Given the description of an element on the screen output the (x, y) to click on. 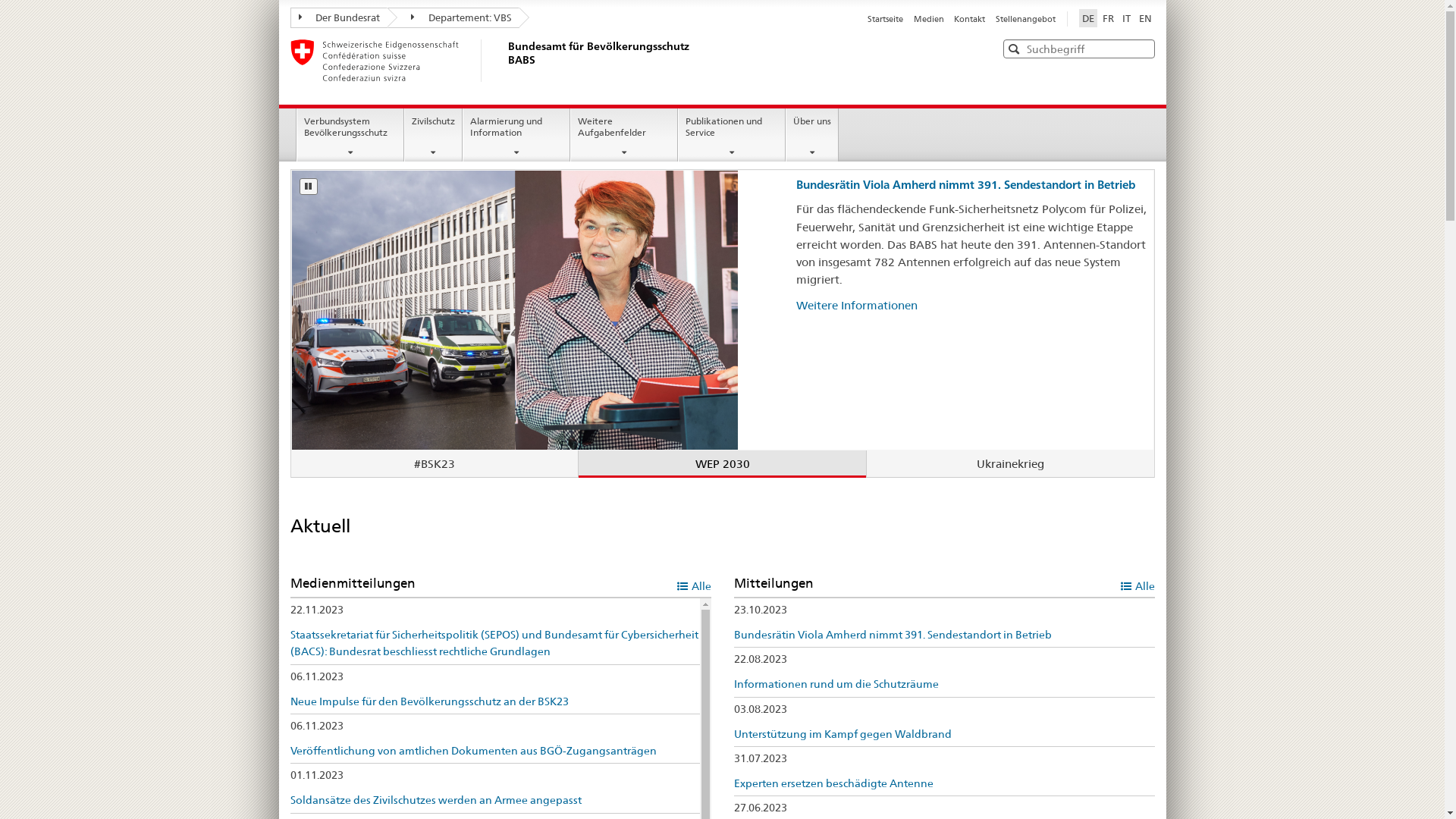
Ukrainekrieg Element type: text (1010, 464)
Der Bundesrat Element type: text (338, 17)
IT Element type: text (1126, 18)
EN Element type: text (1144, 18)
Clear Element type: text (1140, 48)
WEP 2030 Element type: text (722, 464)
Alarmierung und Information Element type: text (516, 134)
Alle Element type: text (693, 584)
Departement: VBS Element type: text (453, 17)
#BSK23 Element type: text (434, 464)
Weitere Informationen Element type: text (856, 305)
Weitere Aufgabenfelder Element type: text (624, 134)
Zivilschutz Element type: text (432, 134)
Medien Element type: text (928, 18)
FR Element type: text (1108, 18)
Kontakt Element type: text (969, 18)
Alle Element type: text (1137, 584)
Publikationen und Service Element type: text (731, 134)
Stellenangebot Element type: text (1024, 18)
Startseite Element type: text (885, 18)
DE
selected Element type: text (1087, 18)
